Given the description of an element on the screen output the (x, y) to click on. 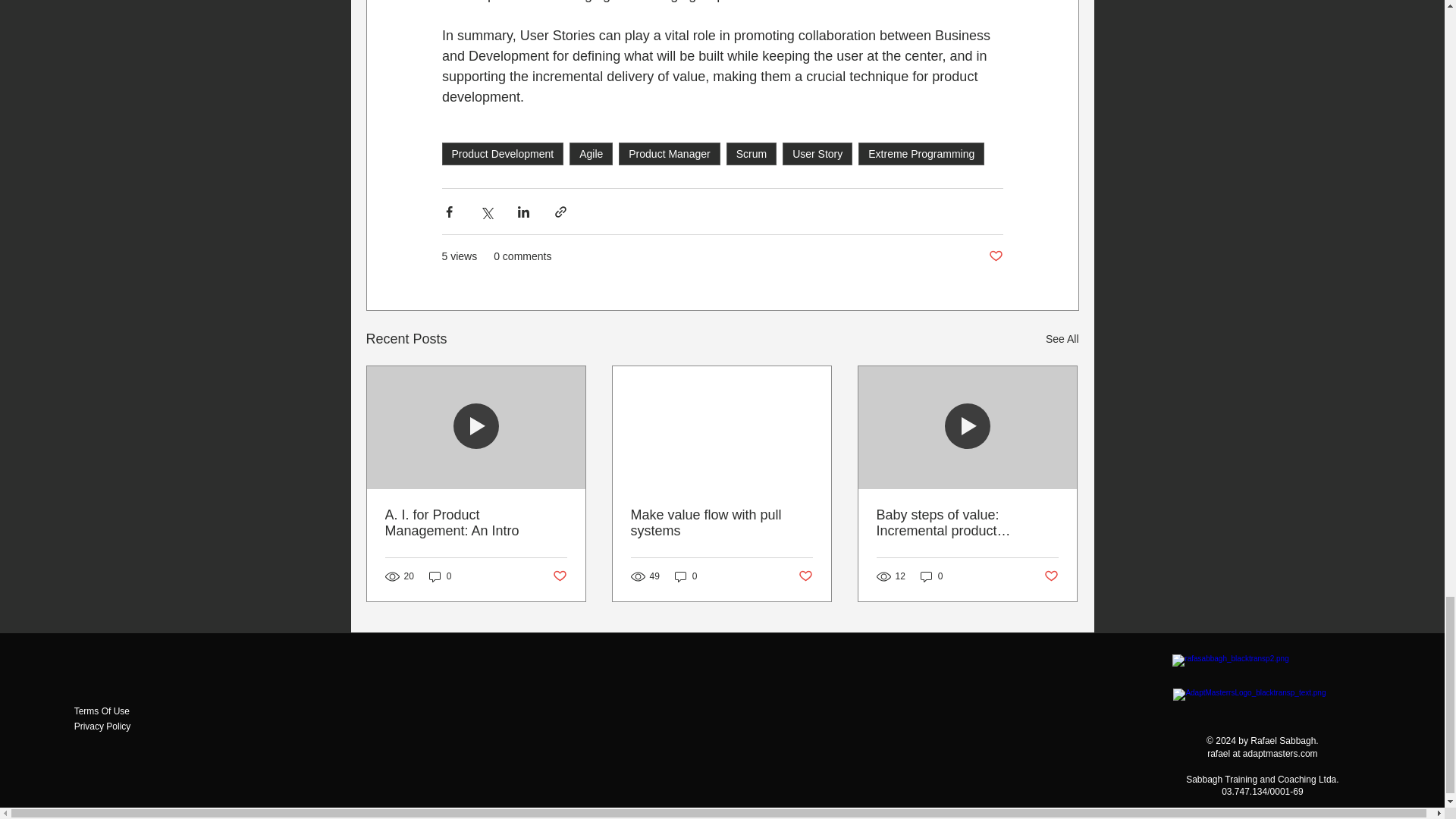
0 (685, 576)
Product Manager (668, 153)
User Story (817, 153)
0 (440, 576)
See All (1061, 339)
Baby steps of value: Incremental product development (967, 522)
Post not marked as liked (558, 576)
Agile (590, 153)
Post not marked as liked (804, 576)
Make value flow with pull systems (721, 522)
Scrum (751, 153)
Product Development (502, 153)
A. I. for Product Management: An Intro (476, 522)
Post not marked as liked (995, 256)
Extreme Programming (921, 153)
